Given the description of an element on the screen output the (x, y) to click on. 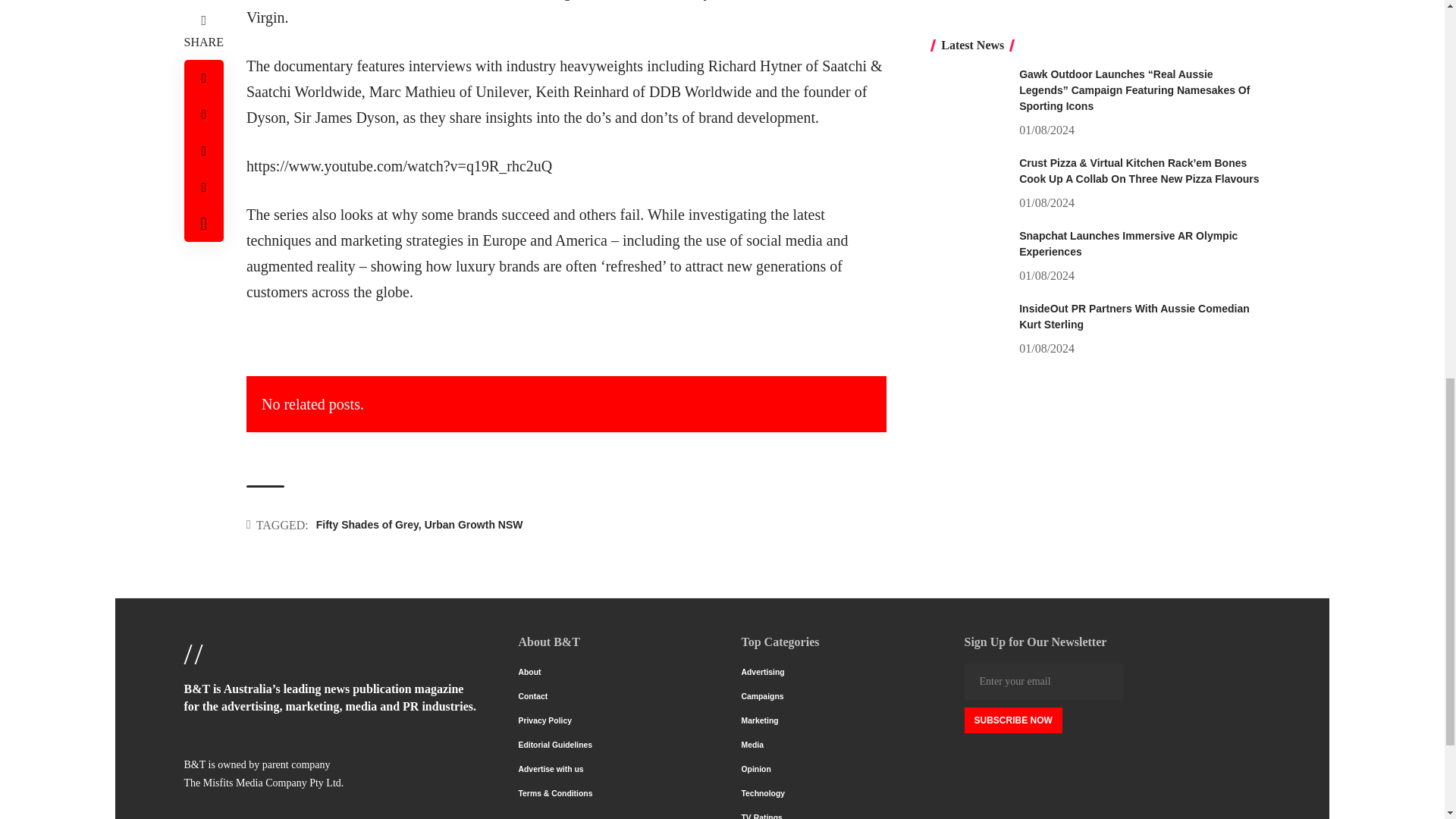
InsideOut PR Partners With Aussie Comedian Kurt Sterling (969, 16)
